Given the description of an element on the screen output the (x, y) to click on. 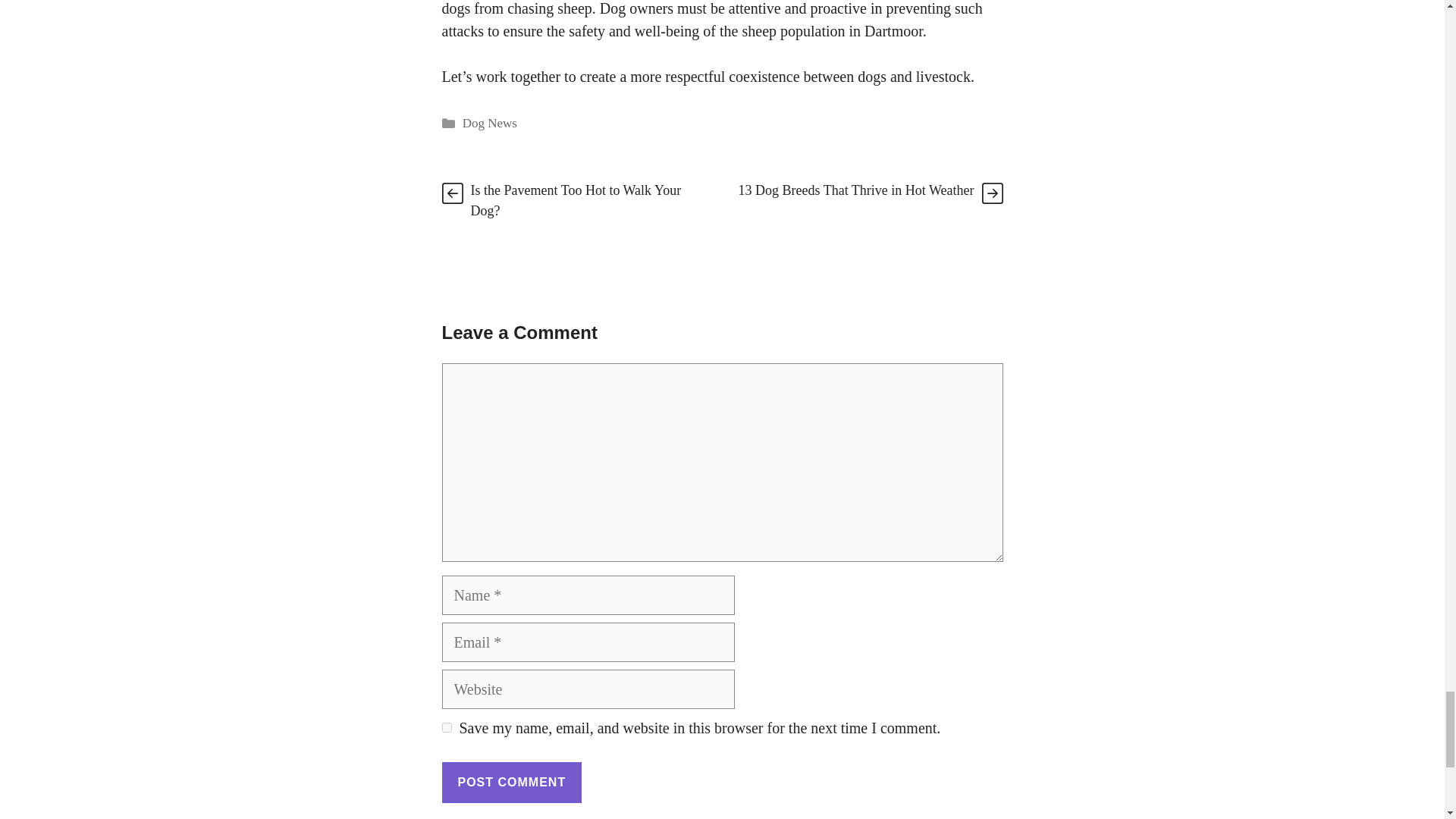
Is the Pavement Too Hot to Walk Your Dog? (575, 200)
Post Comment (510, 781)
yes (446, 727)
Post Comment (510, 781)
13 Dog Breeds That Thrive in Hot Weather (856, 190)
Dog News (489, 123)
